Given the description of an element on the screen output the (x, y) to click on. 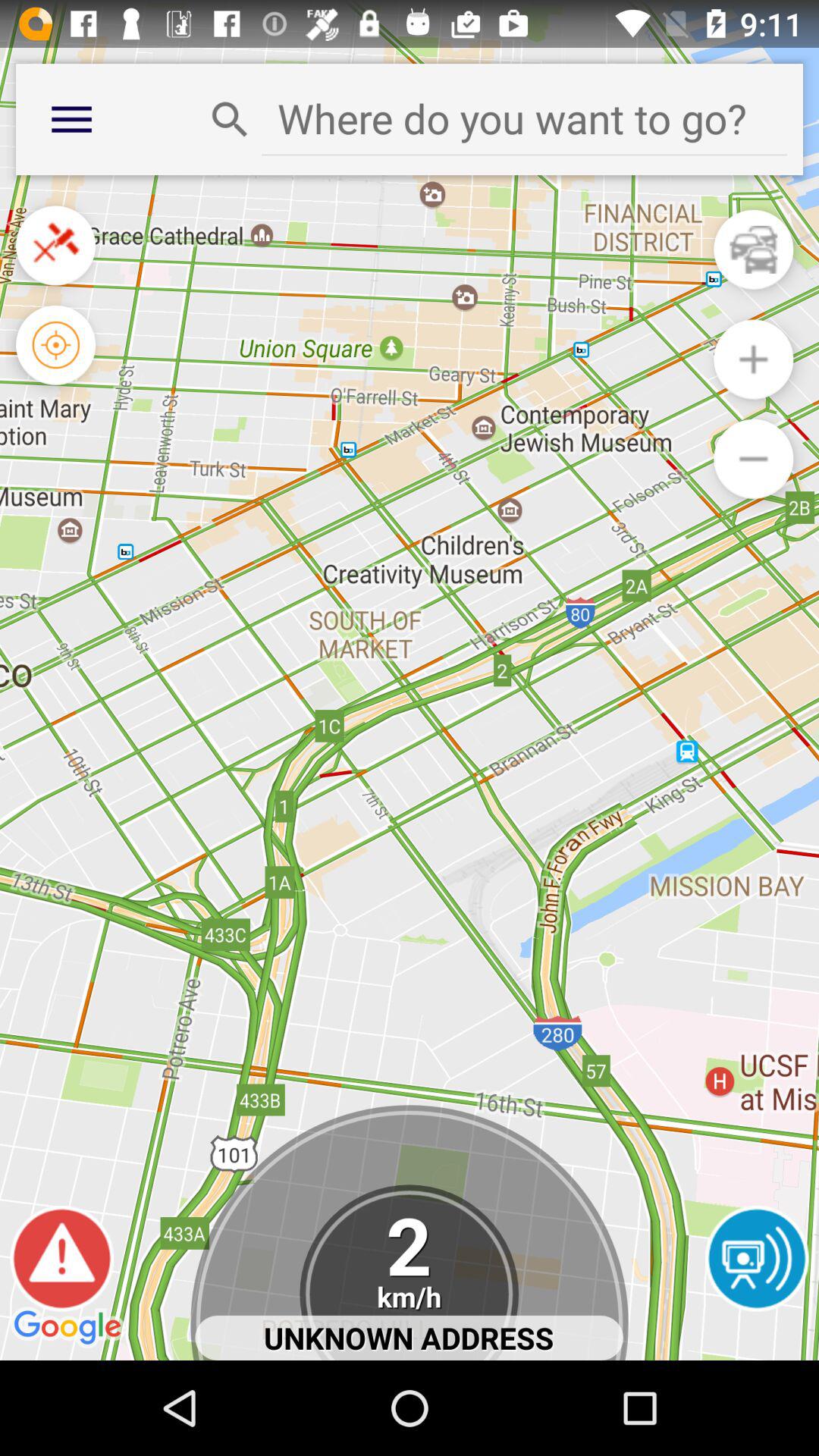
zoom out switch (753, 359)
